Given the description of an element on the screen output the (x, y) to click on. 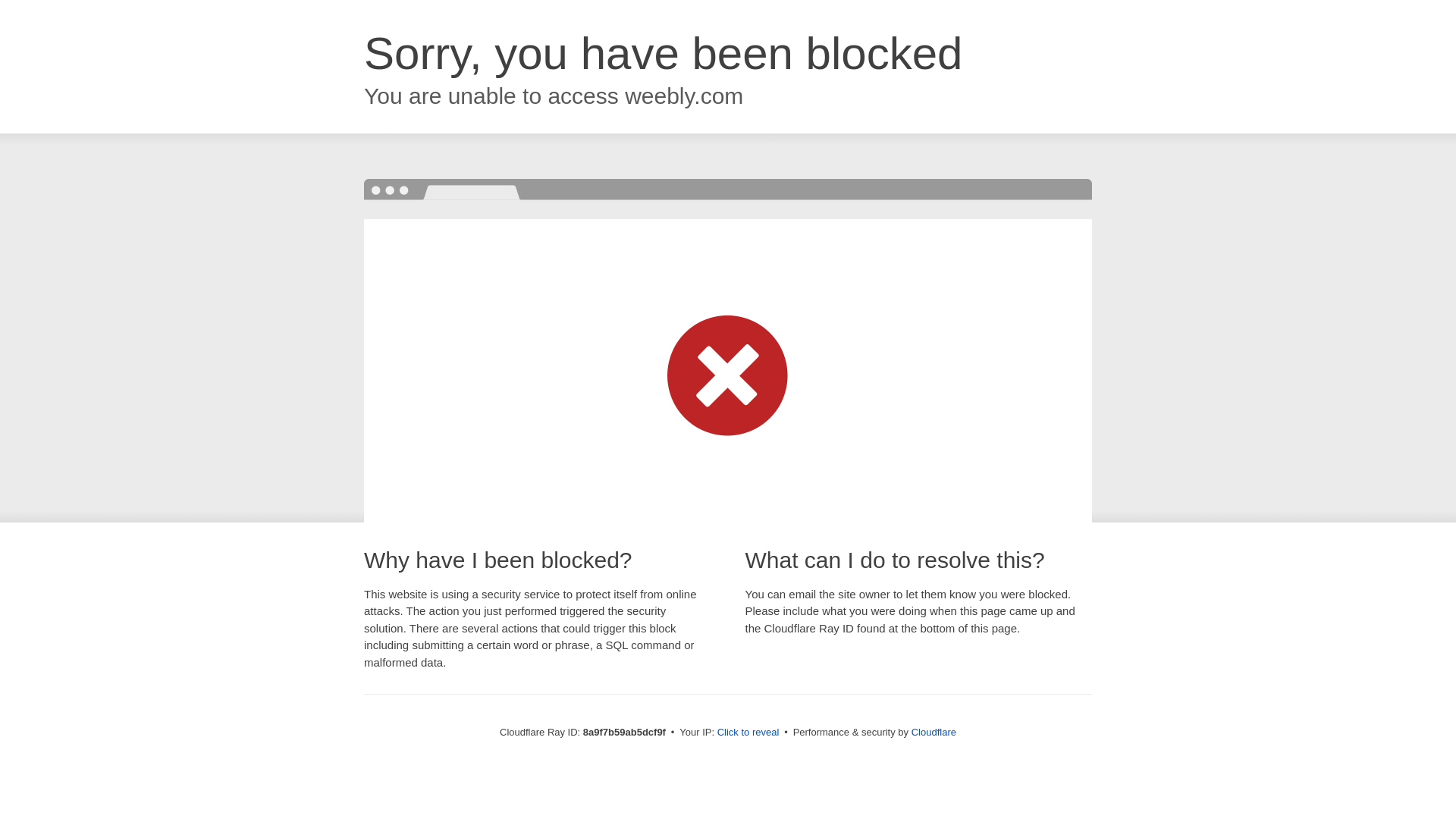
Cloudflare (933, 731)
Click to reveal (747, 732)
